Given the description of an element on the screen output the (x, y) to click on. 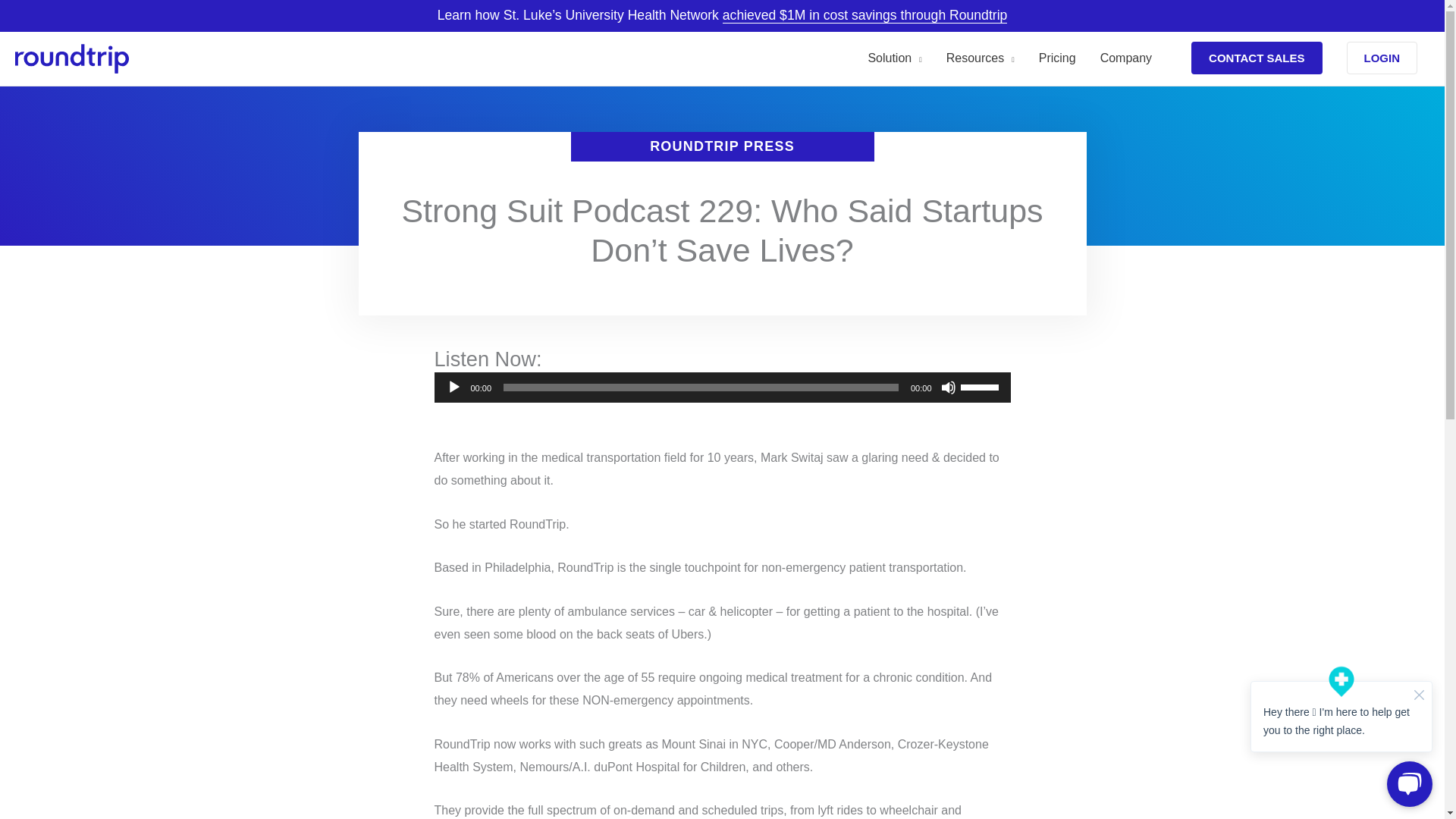
Solution (894, 58)
LOGIN (1382, 58)
Company (1125, 58)
Play (453, 387)
Mute (947, 387)
Pricing (1056, 58)
Resources (980, 58)
CONTACT SALES (1248, 58)
